Given the description of an element on the screen output the (x, y) to click on. 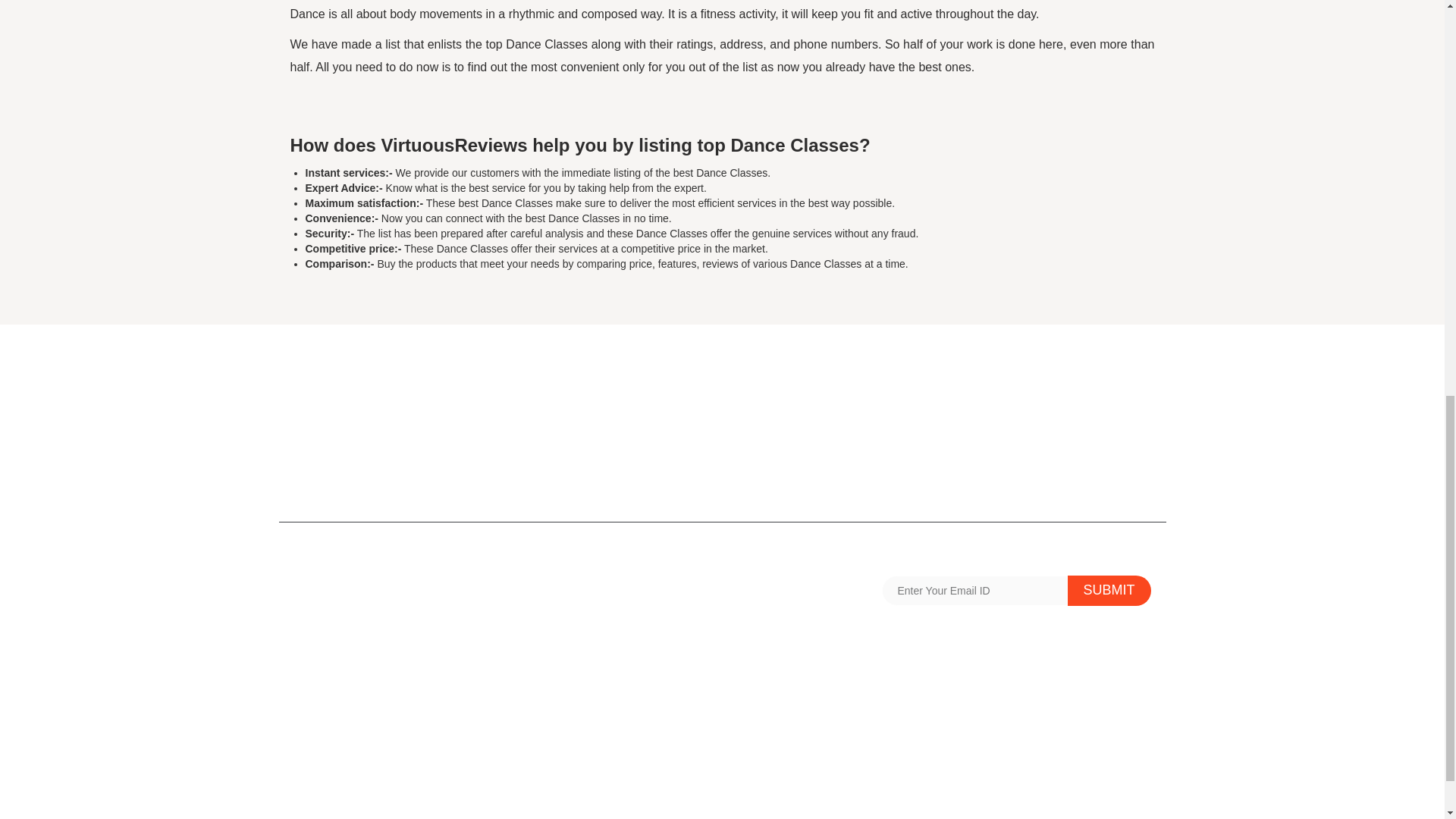
What we do (761, 681)
Who we are (317, 772)
